Given the description of an element on the screen output the (x, y) to click on. 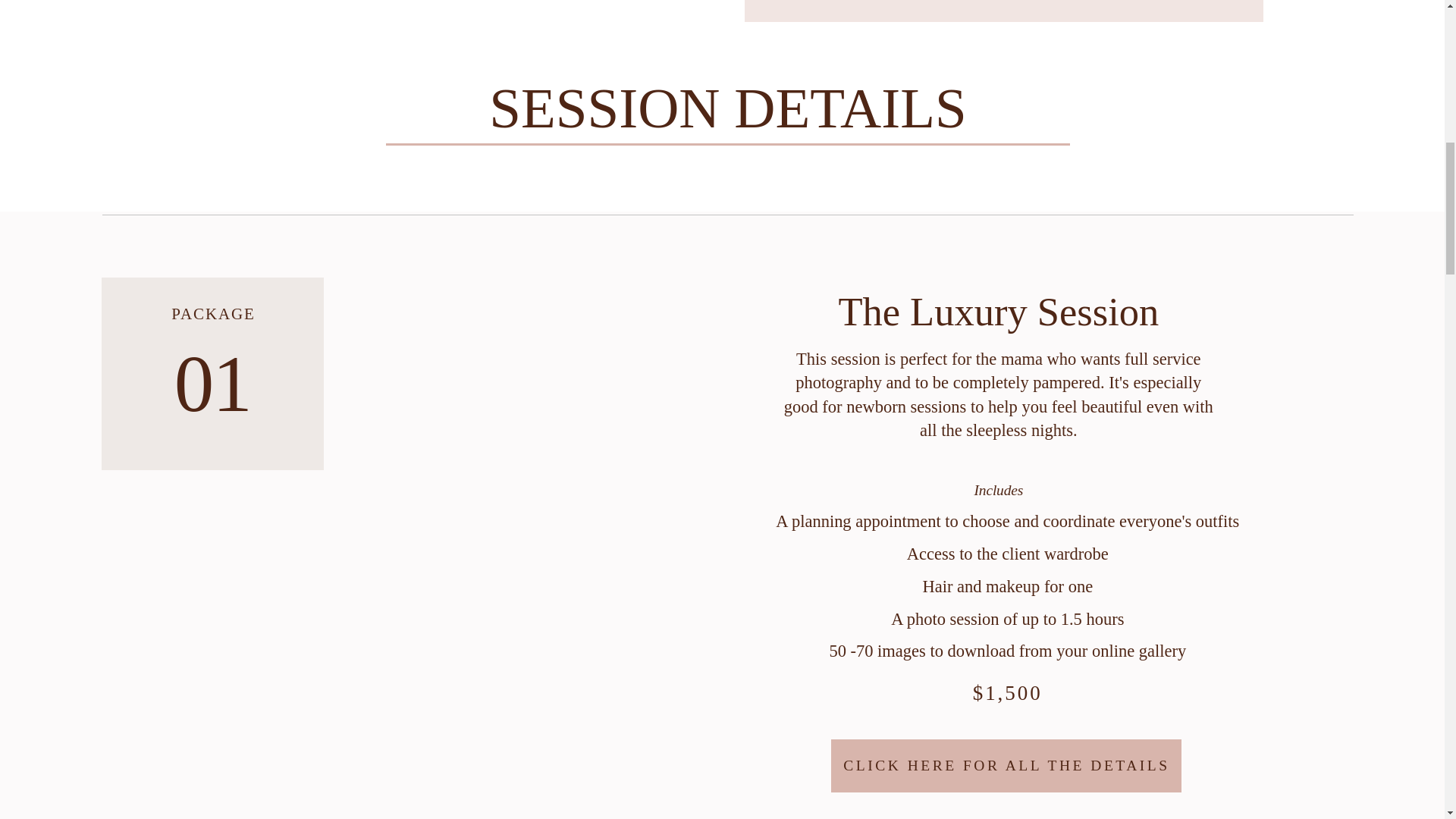
CLICK HERE FOR ALL THE DETAILS (1005, 765)
